Given the description of an element on the screen output the (x, y) to click on. 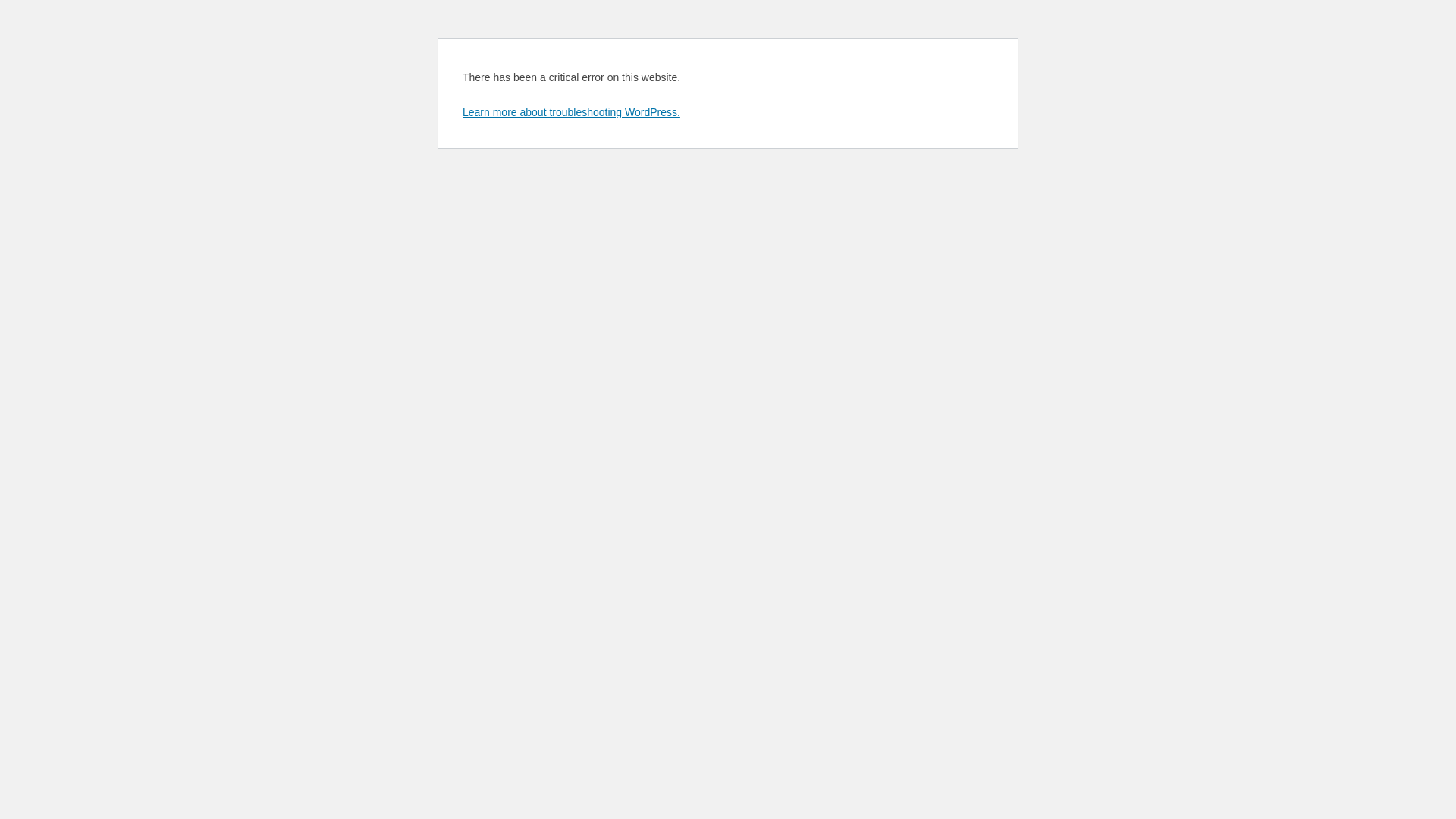
Learn more about troubleshooting WordPress. Element type: text (571, 112)
